Given the description of an element on the screen output the (x, y) to click on. 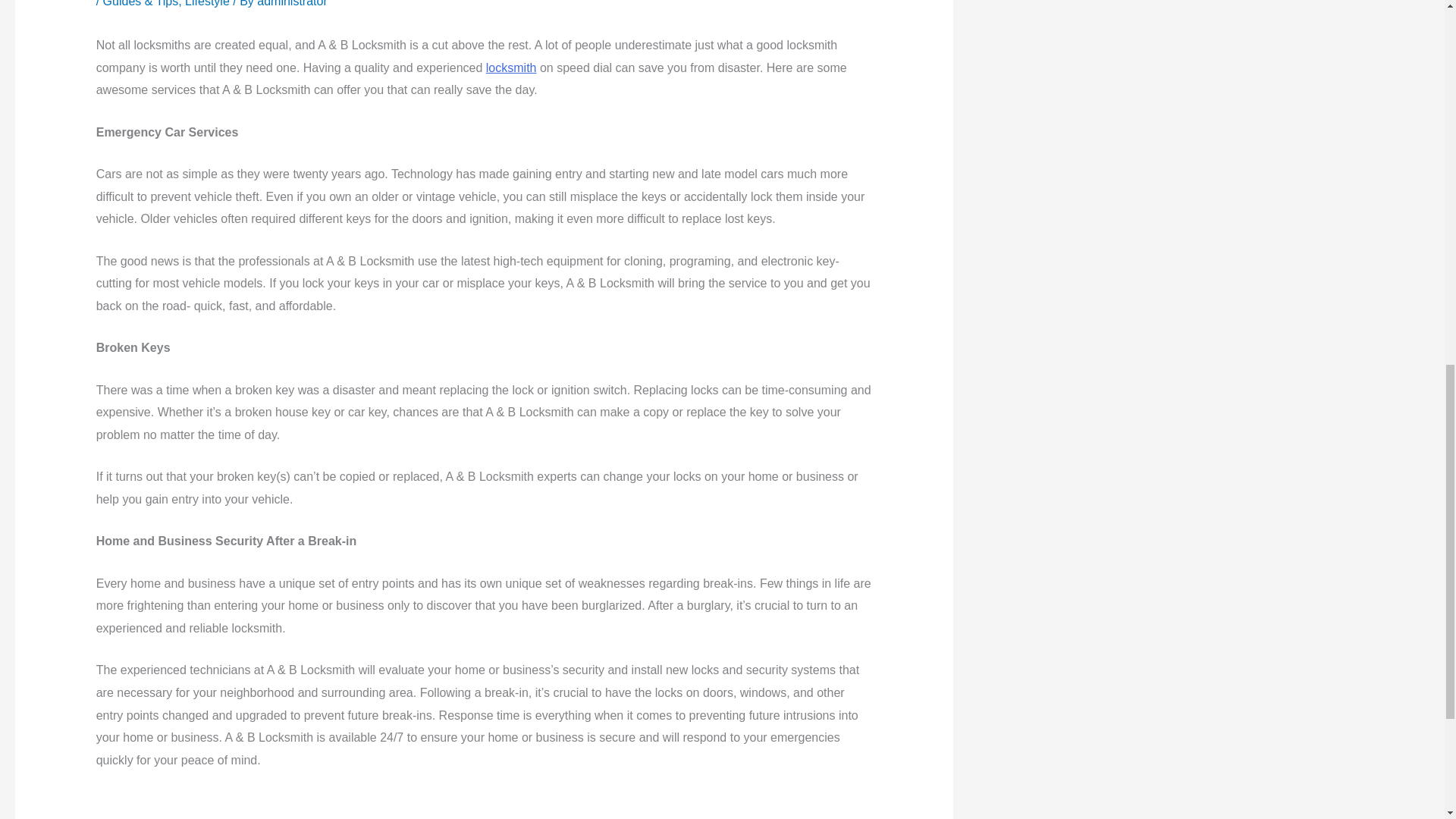
administrator (291, 3)
locksmith (511, 67)
Lifestyle (207, 3)
View all posts by administrator (291, 3)
